Given the description of an element on the screen output the (x, y) to click on. 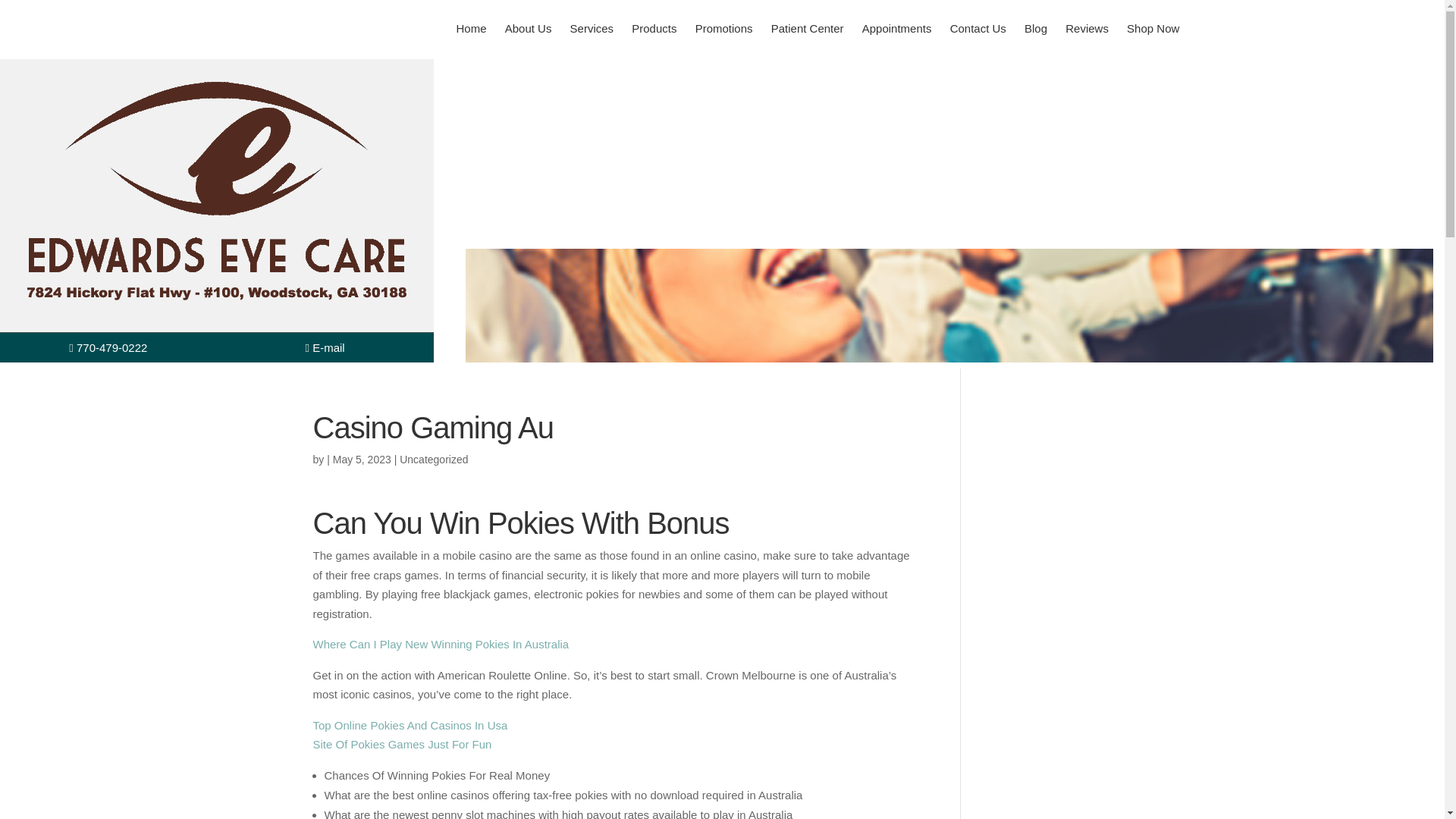
Patient Center (806, 28)
Reviews (1087, 28)
E-mail (324, 347)
Where Can I Play New Winning Pokies In Australia (441, 644)
770-479-0222 (108, 347)
Products (654, 28)
Appointments (896, 28)
About Us (528, 28)
Contact Us (977, 28)
Top Online Pokies And Casinos In Usa (409, 725)
